Given the description of an element on the screen output the (x, y) to click on. 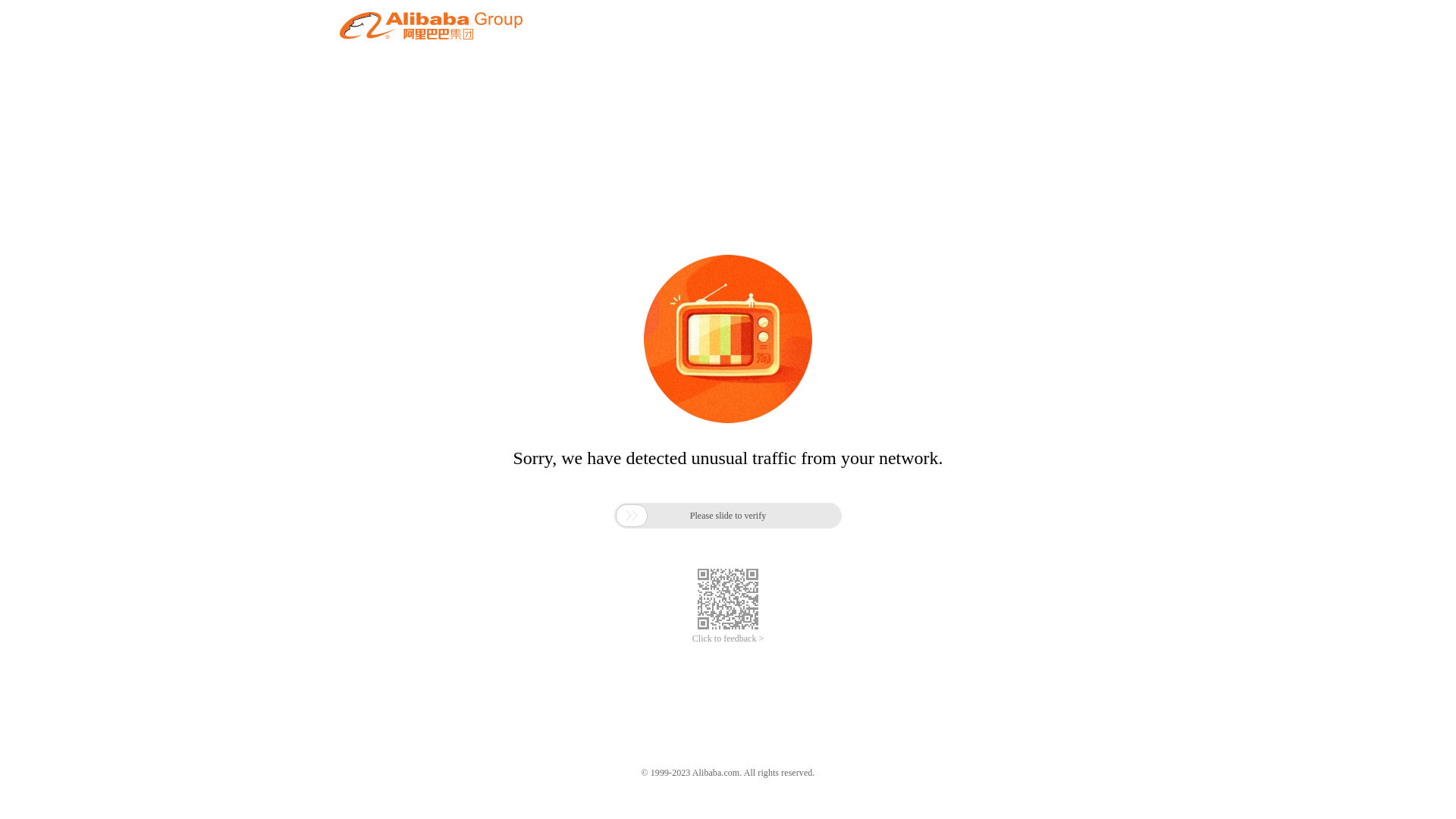
Click to feedback > Element type: text (727, 638)
